Given the description of an element on the screen output the (x, y) to click on. 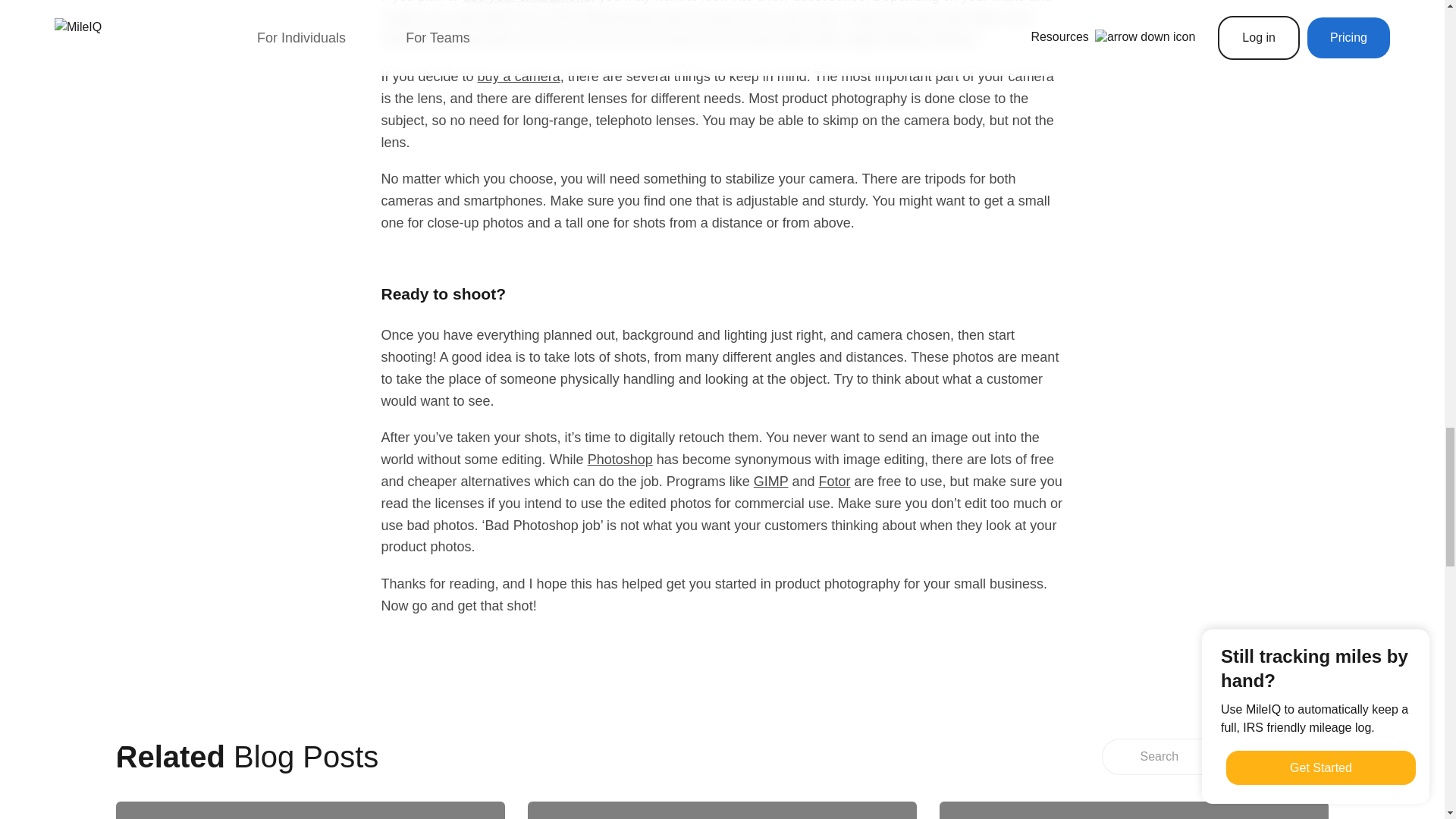
Photoshop (620, 459)
Fotor (834, 481)
GIMP (771, 481)
buy a camera (518, 76)
use your smartphone (527, 2)
